Given the description of an element on the screen output the (x, y) to click on. 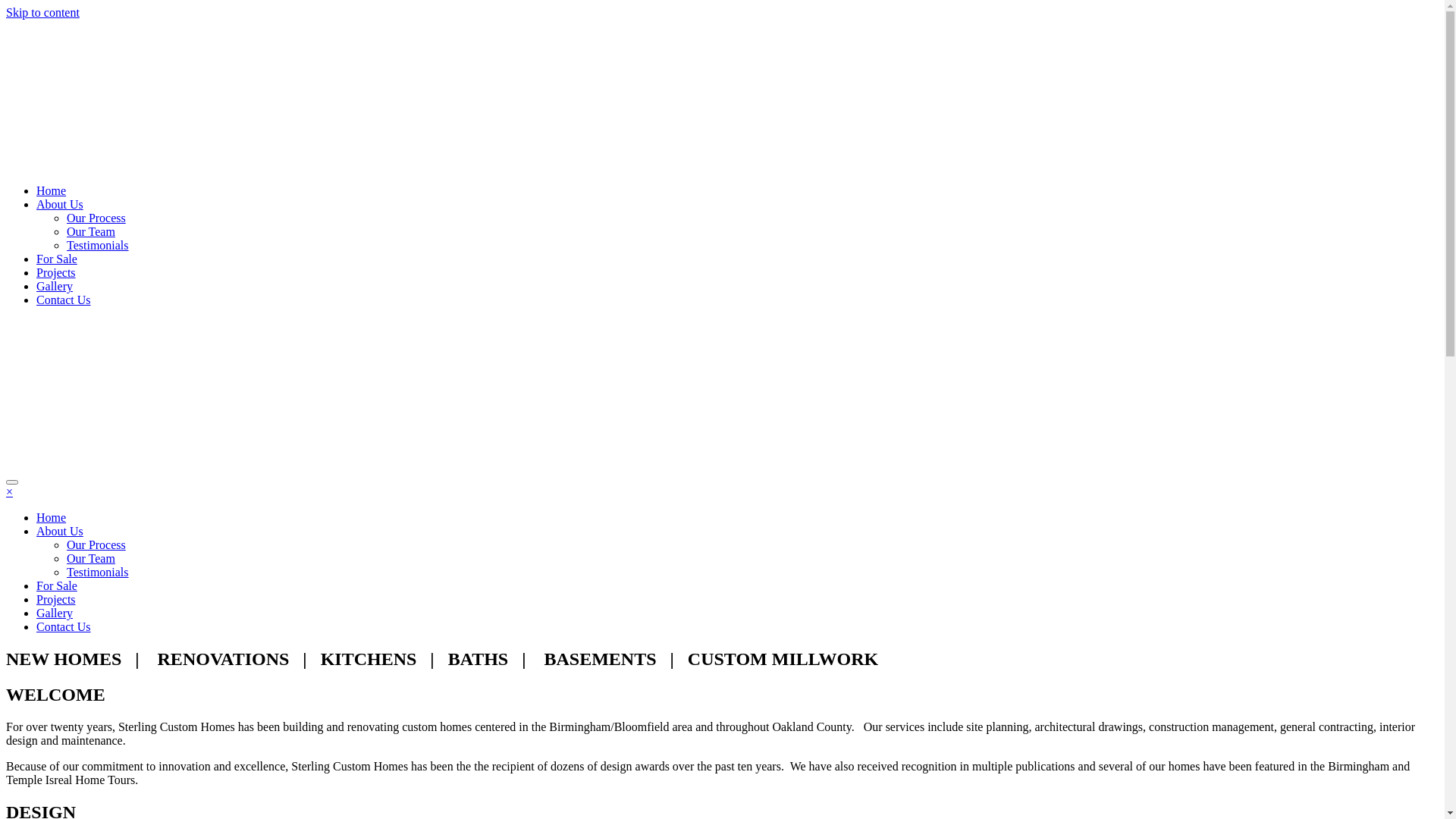
Gallery Element type: text (54, 612)
Our Team Element type: text (90, 558)
About Us Element type: text (59, 203)
Home Element type: text (50, 190)
Our Team Element type: text (90, 231)
Skip to content Element type: text (42, 12)
Testimonials Element type: text (97, 244)
Projects Element type: text (55, 272)
Gallery Element type: text (54, 285)
Logo-for-Embroidery-nobg Element type: hover (394, 393)
Projects Element type: text (55, 599)
Our Process Element type: text (95, 544)
Testimonials Element type: text (97, 571)
Contact Us Element type: text (63, 299)
For Sale Element type: text (56, 258)
Contact Us Element type: text (63, 626)
Home Element type: text (50, 517)
Logo-for-Embroidery-nobg Element type: hover (394, 94)
For Sale Element type: text (56, 585)
About Us Element type: text (59, 530)
Our Process Element type: text (95, 217)
